Given the description of an element on the screen output the (x, y) to click on. 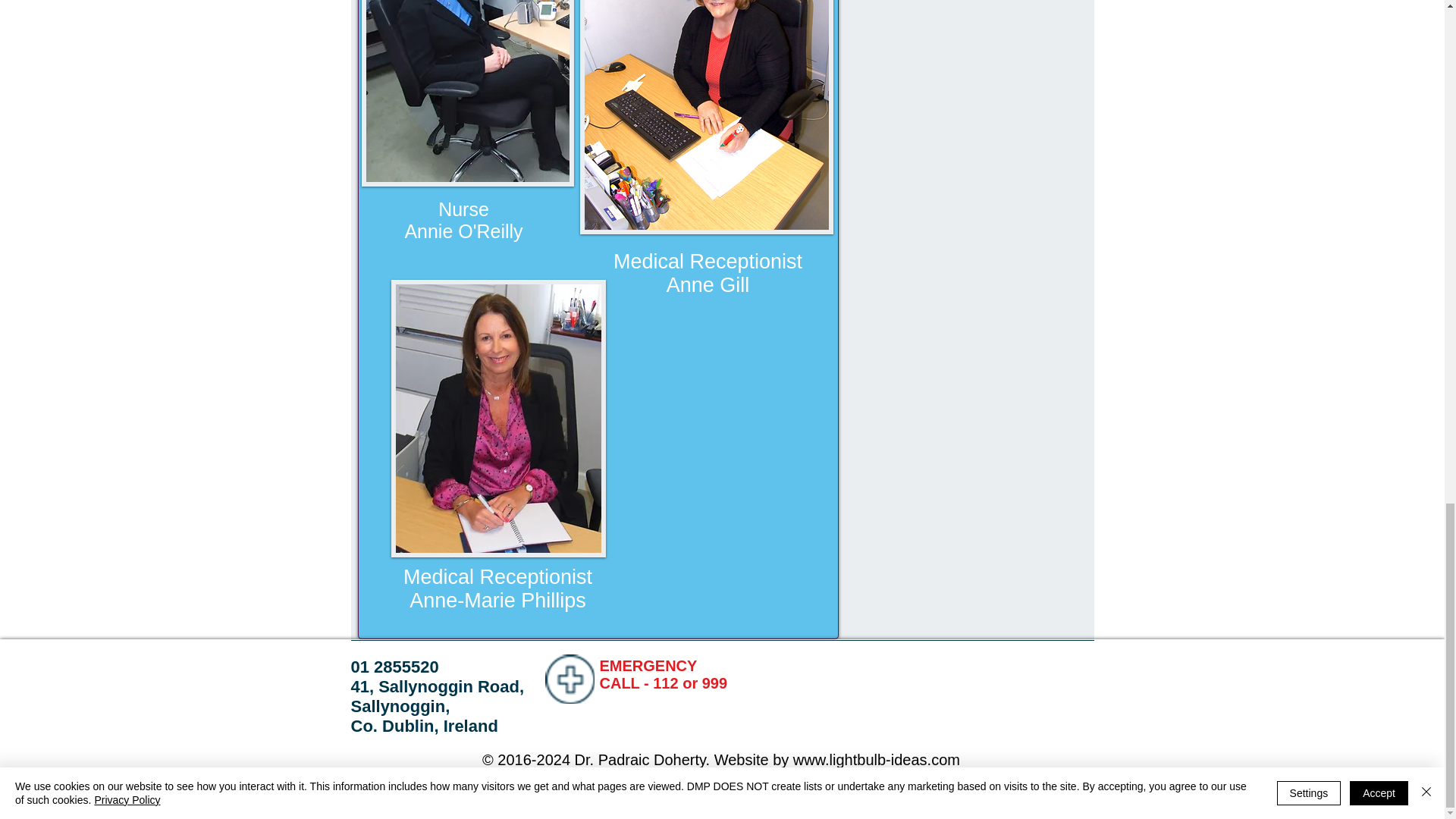
Screen Shot 2015-12-02 at 3.47.32 p.m..png (705, 117)
www.lightbulb-ideas.com (876, 759)
AnnieOReilly.jpg (467, 93)
